Given the description of an element on the screen output the (x, y) to click on. 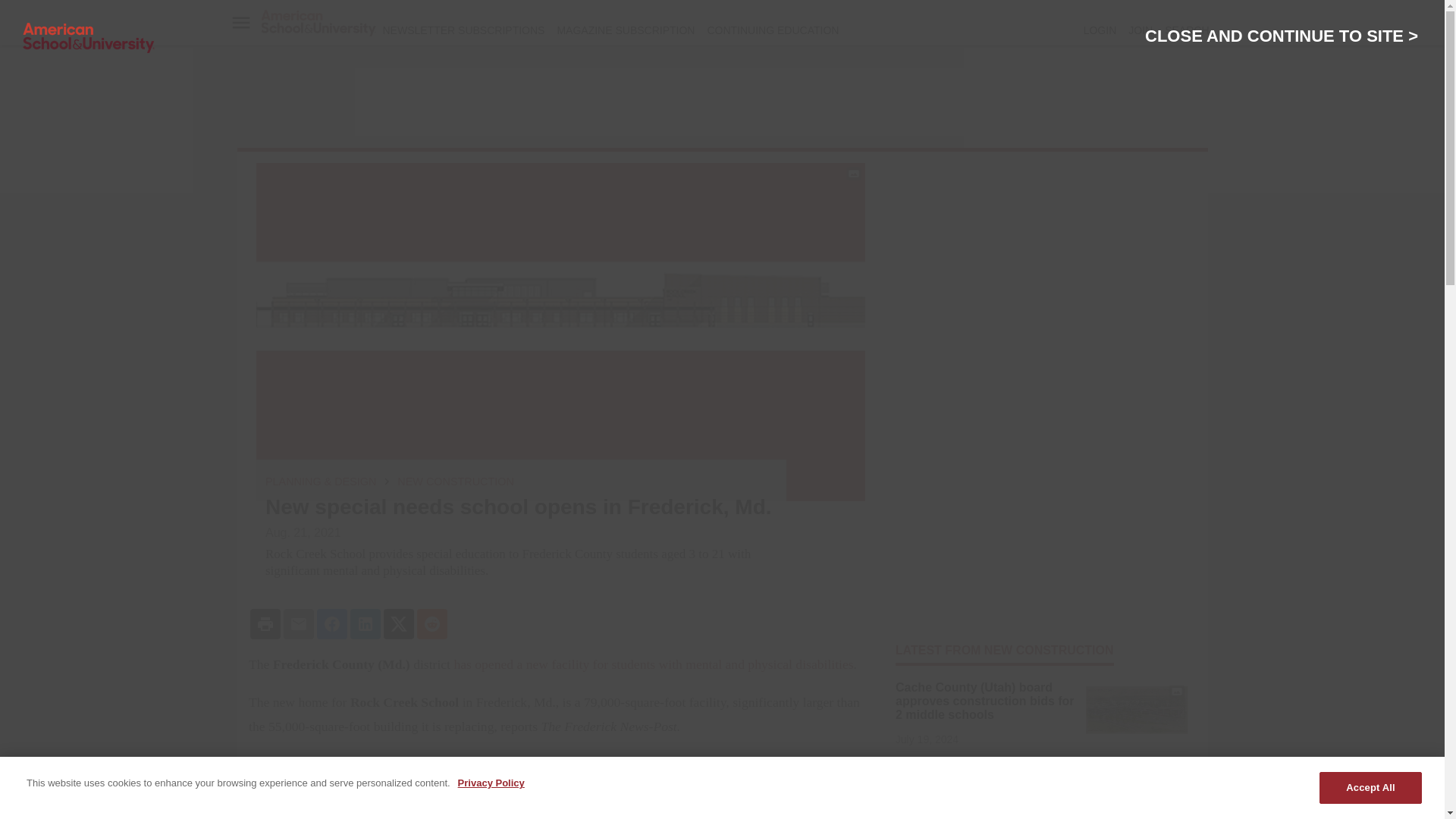
3rd party ad content (722, 101)
LOGIN (1099, 30)
JOIN (1140, 30)
CONTINUING EDUCATION (772, 30)
NEW CONSTRUCTION (455, 481)
MAGAZINE SUBSCRIPTION (625, 30)
SEARCH (1186, 30)
NEWSLETTER SUBSCRIPTIONS (462, 30)
